Given the description of an element on the screen output the (x, y) to click on. 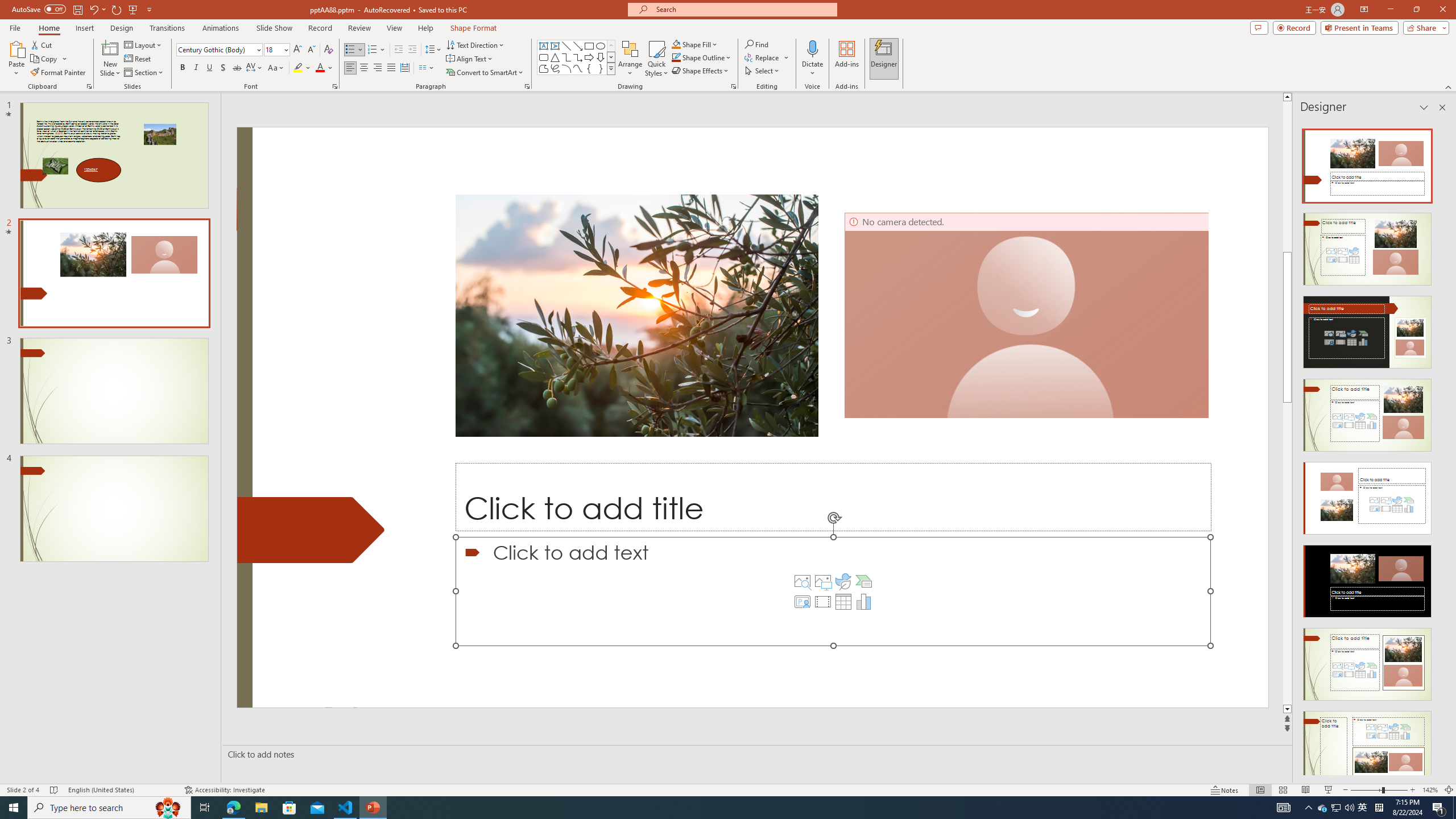
Numbering (376, 49)
Change Case (276, 67)
Select (762, 69)
Text Box (543, 45)
Designer (883, 58)
Close up of an olive branch on a sunset.  (636, 315)
Align Text (470, 58)
Slide Notes (754, 754)
Reset (138, 58)
Paragraph... (526, 85)
Font Size (276, 49)
